Given the description of an element on the screen output the (x, y) to click on. 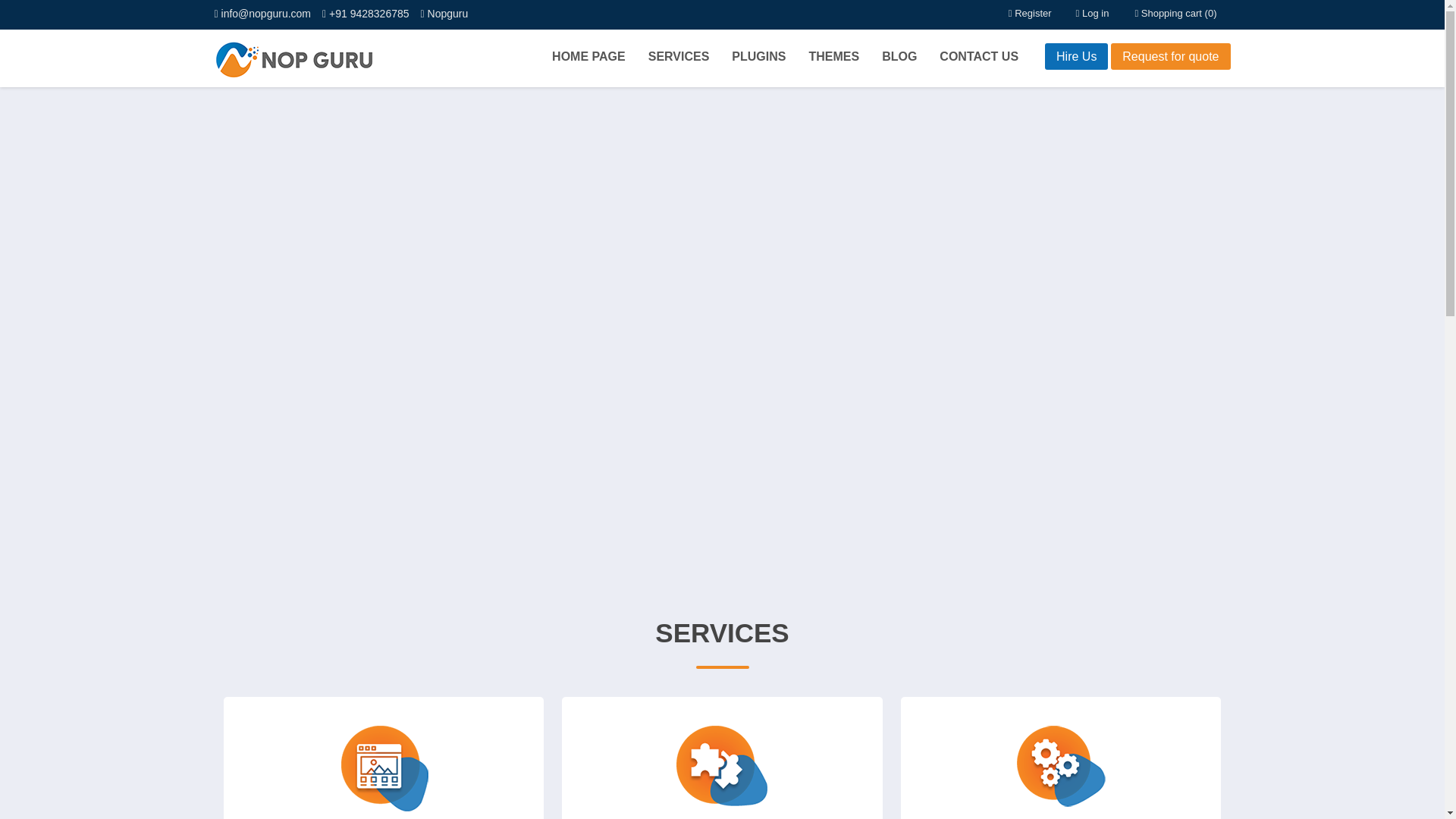
Nopguru (444, 13)
BLOG (898, 56)
HOME PAGE (588, 56)
PLUGINS (758, 56)
Log in (1092, 12)
Hire Us (1076, 56)
THEMES (834, 56)
Request for quote (1170, 56)
CONTACT US (979, 56)
SERVICES (679, 56)
